Given the description of an element on the screen output the (x, y) to click on. 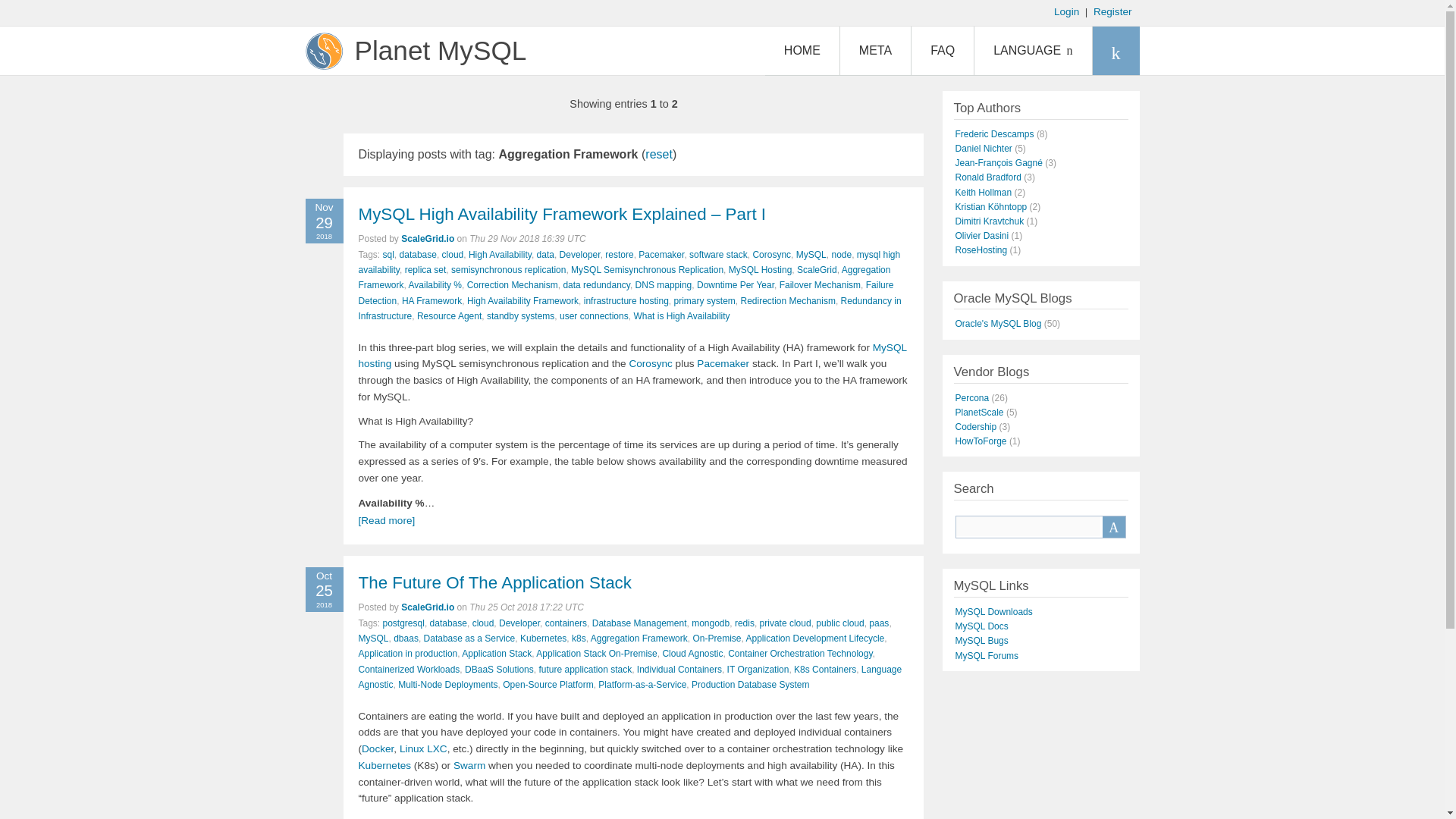
META (875, 50)
database (417, 254)
software stack (718, 254)
Register (1112, 11)
Search (1113, 526)
cloud (453, 254)
replica set (425, 269)
Corosync (771, 254)
restore (619, 254)
Aggregation Framework (623, 277)
Aggregate feed (1115, 50)
reset (658, 154)
FAQ (942, 50)
semisynchronous replication (508, 269)
ScaleGrid.io (427, 238)
